Given the description of an element on the screen output the (x, y) to click on. 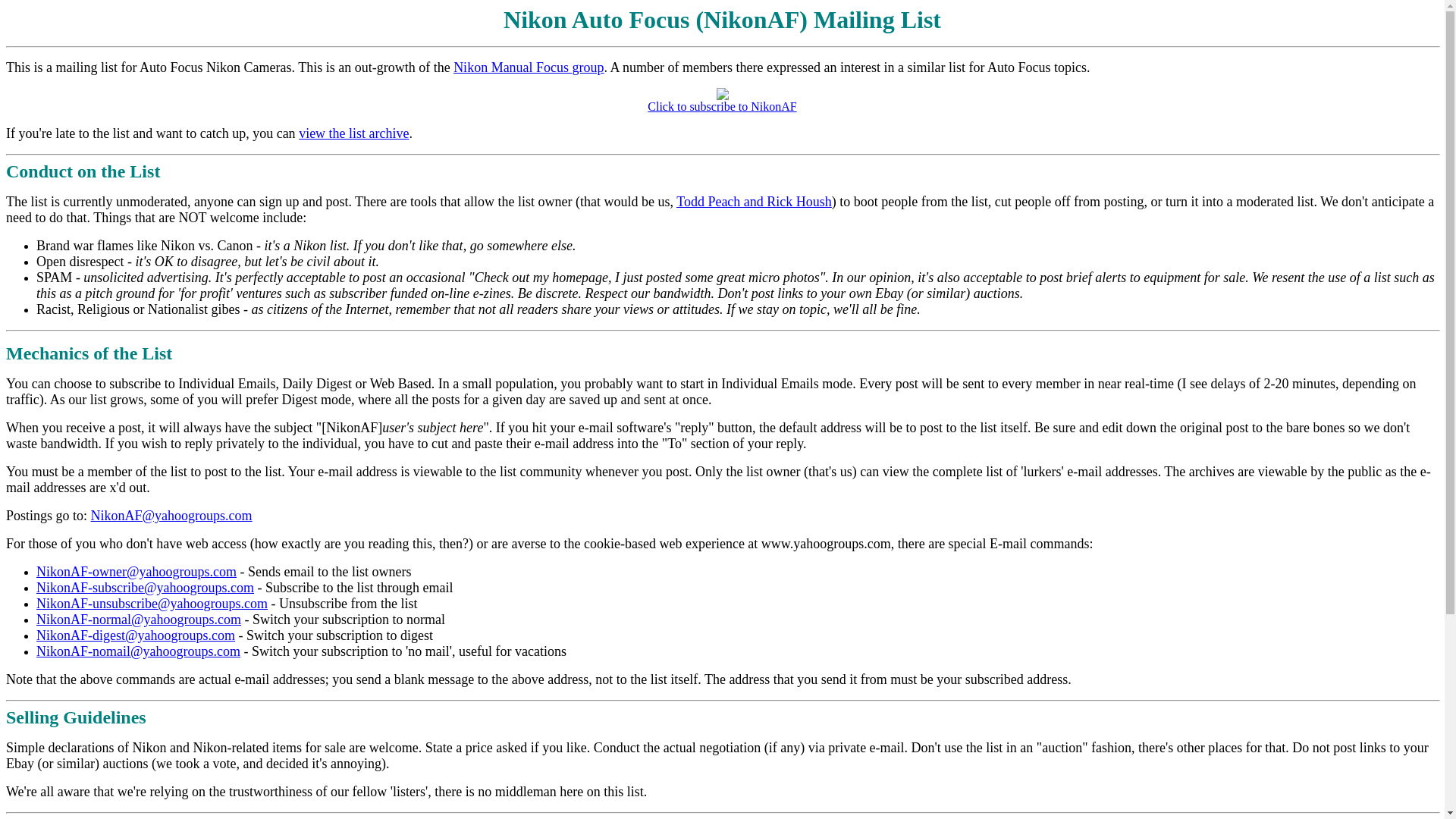
Nikon Manual Focus group (528, 67)
Click to subscribe to NikonAF (721, 101)
view the list archive (353, 133)
Todd Peach and Rick Housh (754, 201)
